Given the description of an element on the screen output the (x, y) to click on. 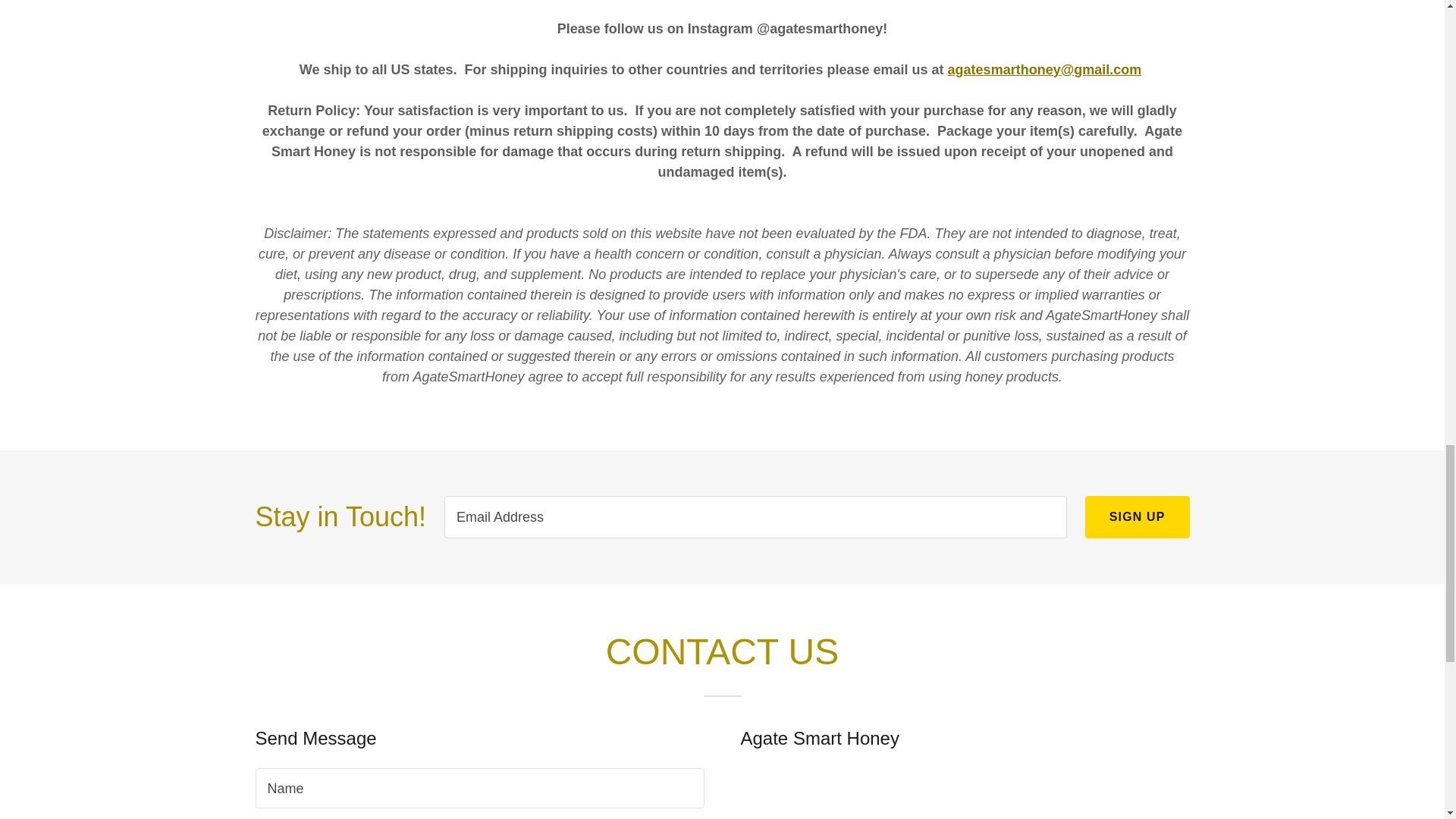
SIGN UP (1136, 517)
